Given the description of an element on the screen output the (x, y) to click on. 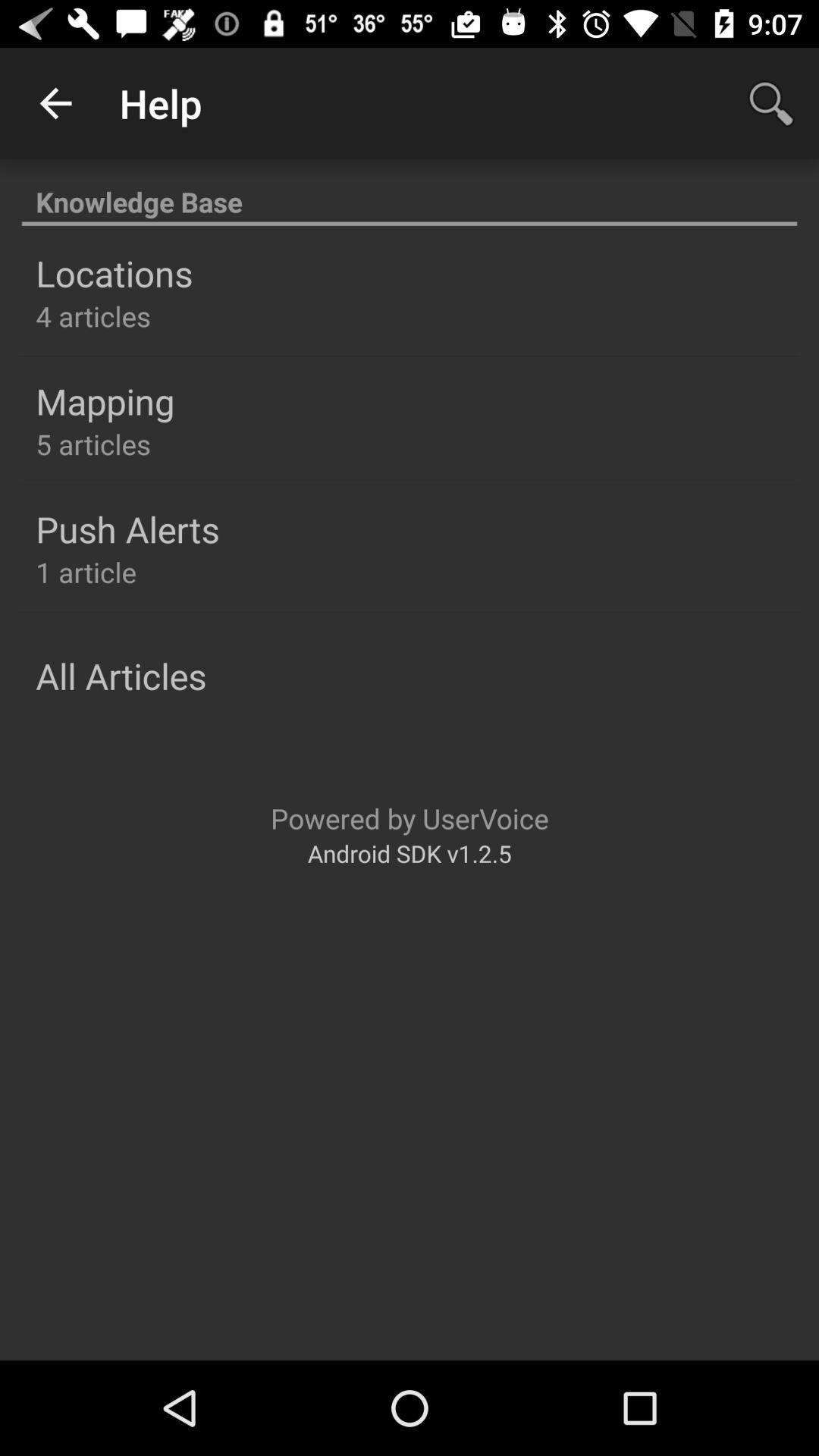
launch item above the knowledge base (55, 103)
